Given the description of an element on the screen output the (x, y) to click on. 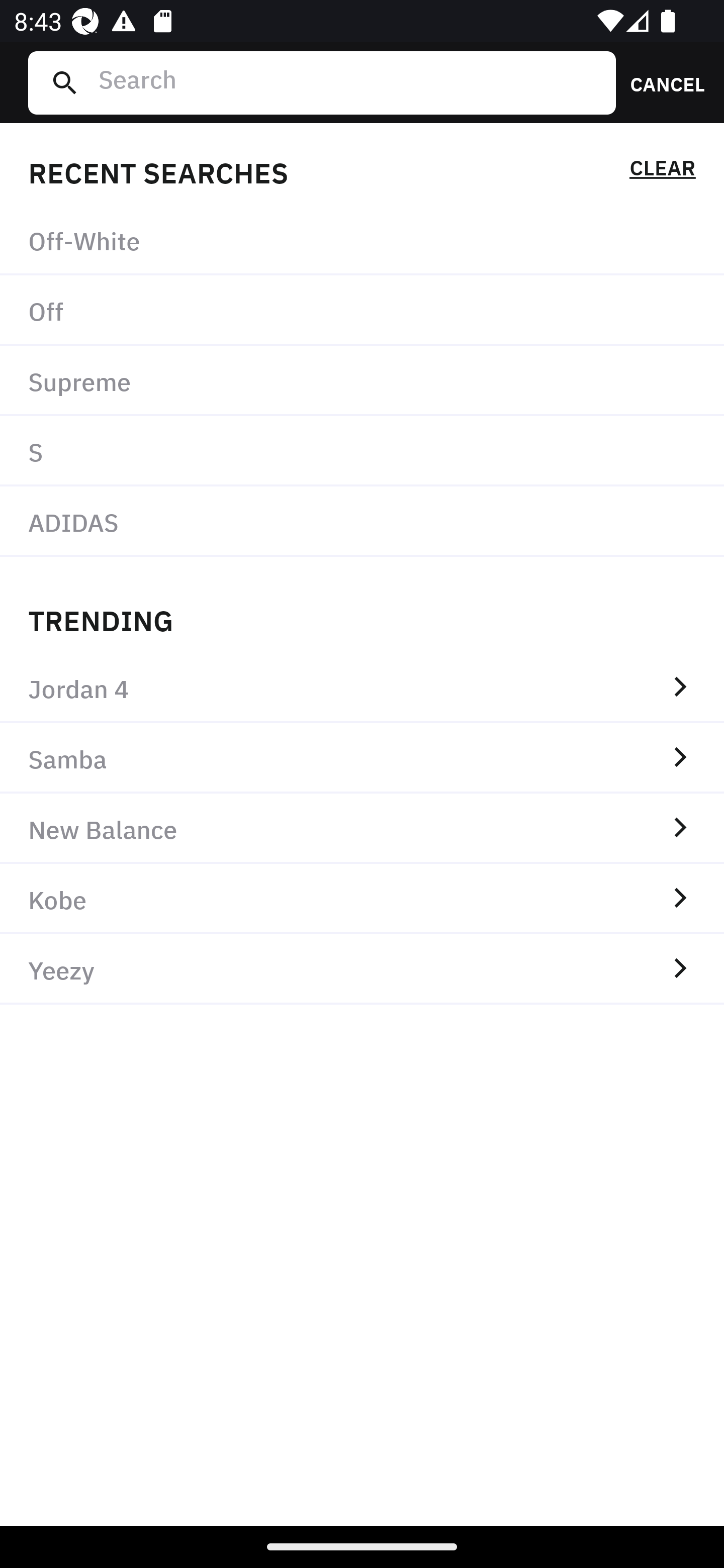
CANCEL (660, 82)
Search (349, 82)
CLEAR (662, 170)
Off-White (362, 240)
Off (362, 310)
Supreme (362, 380)
S (362, 450)
ADIDAS (362, 521)
Jordan 4  (362, 687)
Samba  (362, 757)
New Balance  (362, 828)
Kobe  (362, 898)
Yeezy  (362, 969)
